Given the description of an element on the screen output the (x, y) to click on. 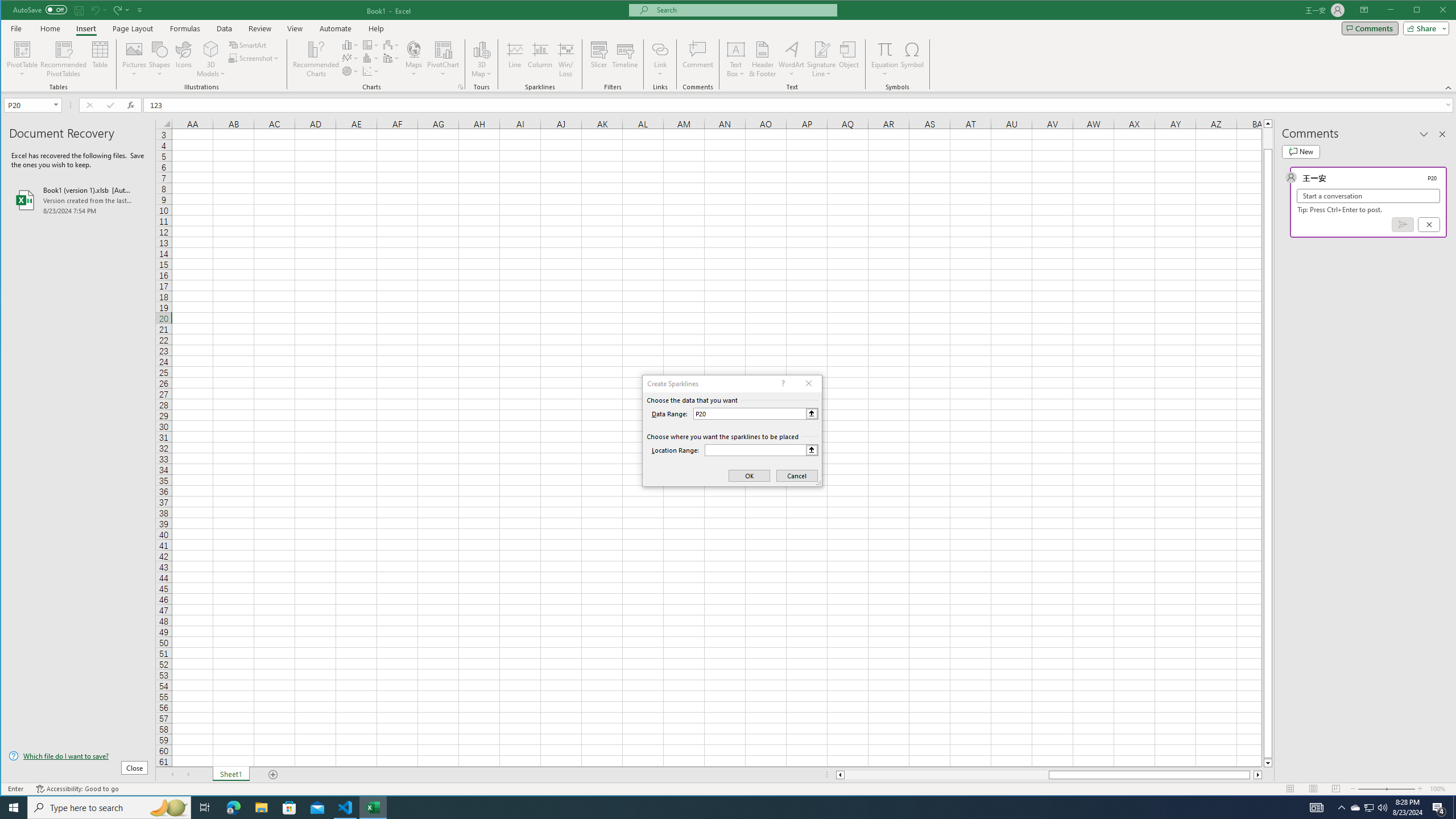
Link (659, 59)
PivotChart (443, 48)
3D Models (211, 48)
WordArt (791, 59)
Slicer... (598, 59)
3D Map (481, 48)
Recommended Charts (460, 86)
Insert Pie or Doughnut Chart (350, 70)
